Given the description of an element on the screen output the (x, y) to click on. 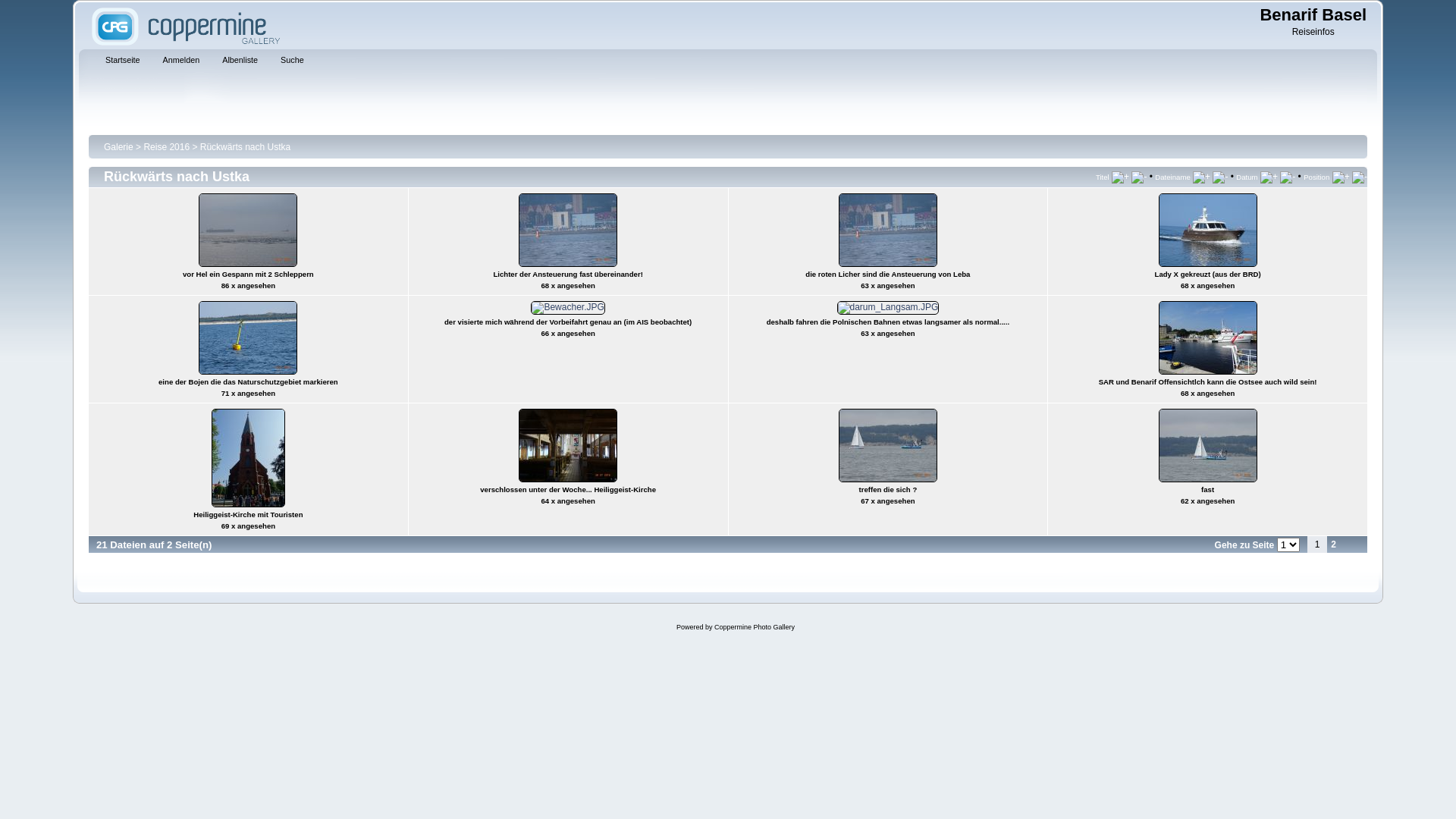
Aufsteigend nach Datum sortieren Element type: hover (1268, 176)
Suche Element type: text (287, 61)
Galerie Element type: text (118, 146)
Startseite Element type: text (118, 61)
Aufsteigend nach Position sortieren Element type: hover (1340, 176)
Absteigend nach Titel sortieren Element type: hover (1138, 176)
Absteigend nach Position sortieren Element type: hover (1359, 176)
Aufsteigend nach Titel sortieren Element type: hover (1120, 176)
Coppermine Photo Gallery Element type: text (754, 626)
Albenliste Element type: text (235, 61)
Absteigend nach Name sortieren Element type: hover (1219, 176)
Aufsteigend nach Name sortieren Element type: hover (1201, 176)
Absteigend nach Datum sortieren Element type: hover (1287, 176)
Anmelden Element type: text (176, 61)
Reise 2016 Element type: text (166, 146)
2 Element type: text (1333, 544)
